Given the description of an element on the screen output the (x, y) to click on. 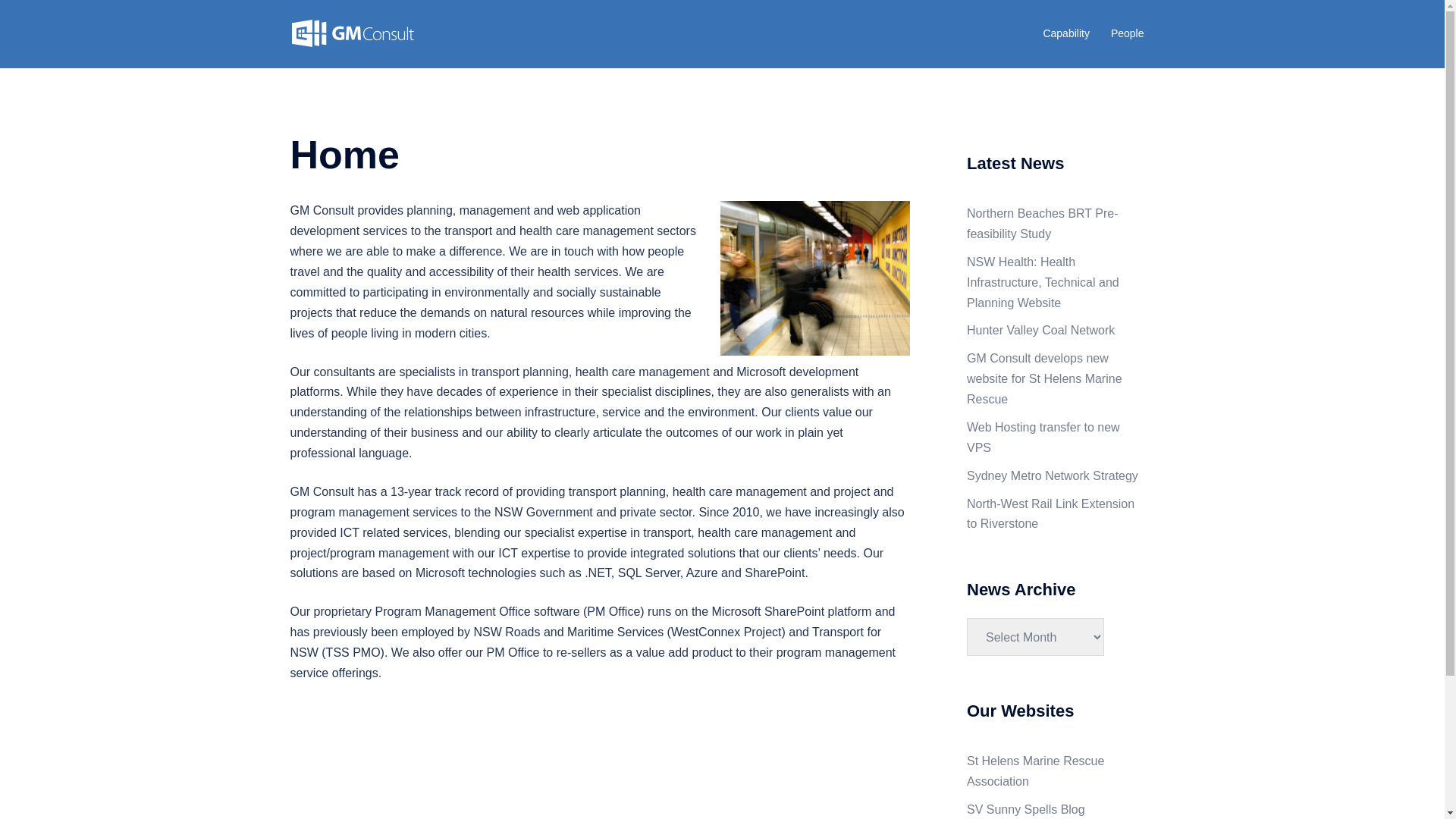
People Element type: text (1127, 34)
GM Consult develops new website for St Helens Marine Rescue Element type: text (1044, 378)
Sydney Metro Network Strategy Element type: text (1052, 475)
St Helens Marine Rescue Association Element type: text (1035, 770)
SV Sunny Spells Blog Element type: text (1025, 809)
Hunter Valley Coal Network Element type: text (1040, 329)
Transport Planning Element type: hover (815, 277)
North-West Rail Link Extension to Riverstone Element type: text (1050, 513)
Northern Beaches BRT Pre-feasibility Study Element type: text (1042, 223)
Capability Element type: text (1065, 34)
GM Consult Pty Ltd Element type: hover (351, 32)
Web Hosting transfer to new VPS Element type: text (1043, 437)
